Given the description of an element on the screen output the (x, y) to click on. 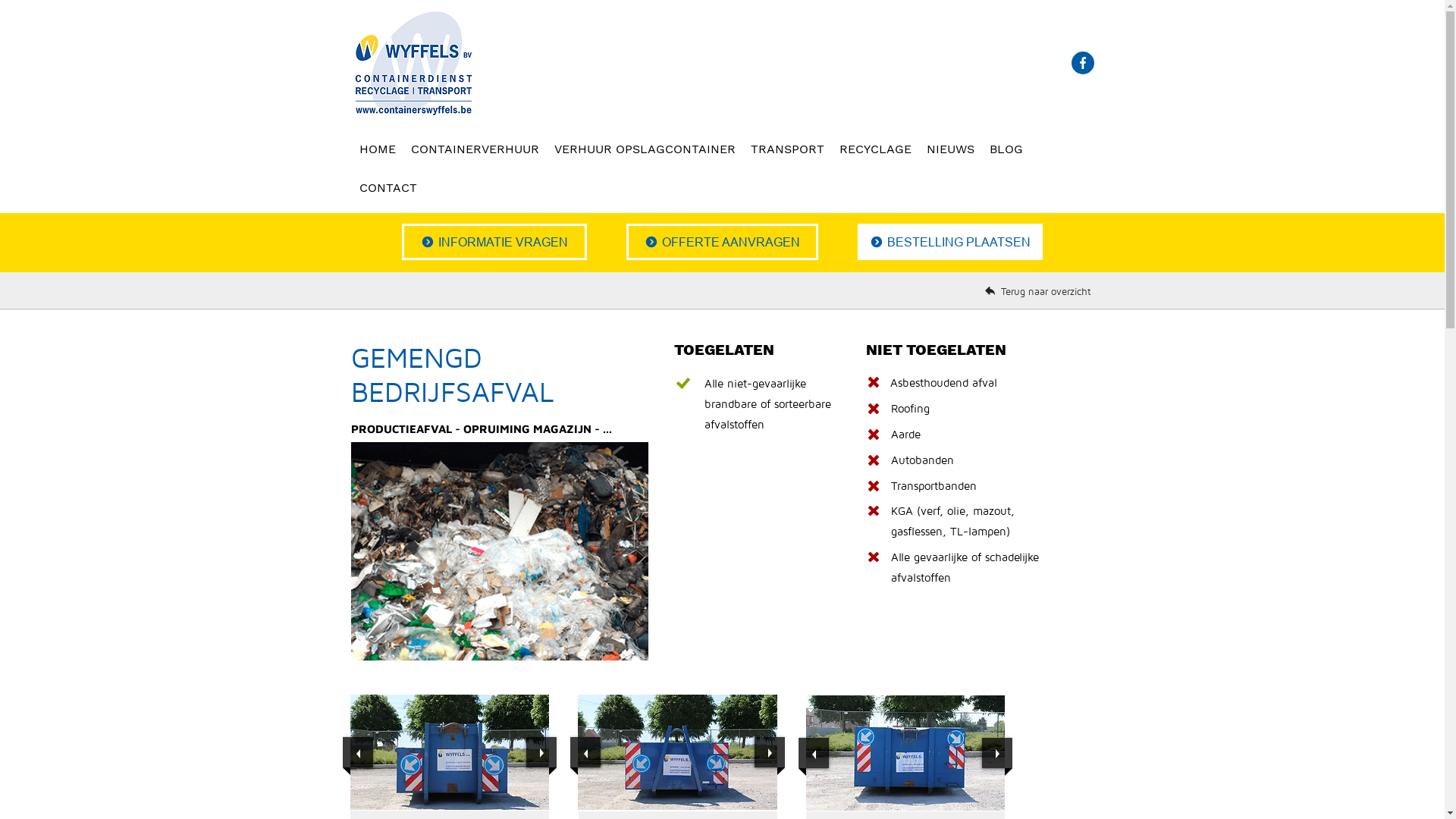
Terug naar overzicht Element type: text (1047, 291)
HOME Element type: text (377, 149)
BESTELLING PLAATSEN Element type: text (948, 241)
VERHUUR OPSLAGCONTAINER Element type: text (644, 149)
CONTACT Element type: text (387, 188)
OFFERTE AANVRAGEN Element type: text (722, 241)
RECYCLAGE Element type: text (874, 149)
Containers Wyffels Element type: hover (412, 63)
TRANSPORT Element type: text (787, 149)
NIEUWS Element type: text (950, 149)
BLOG Element type: text (1005, 149)
CONTAINERVERHUUR Element type: text (474, 149)
INFORMATIE VRAGEN Element type: text (493, 241)
